Given the description of an element on the screen output the (x, y) to click on. 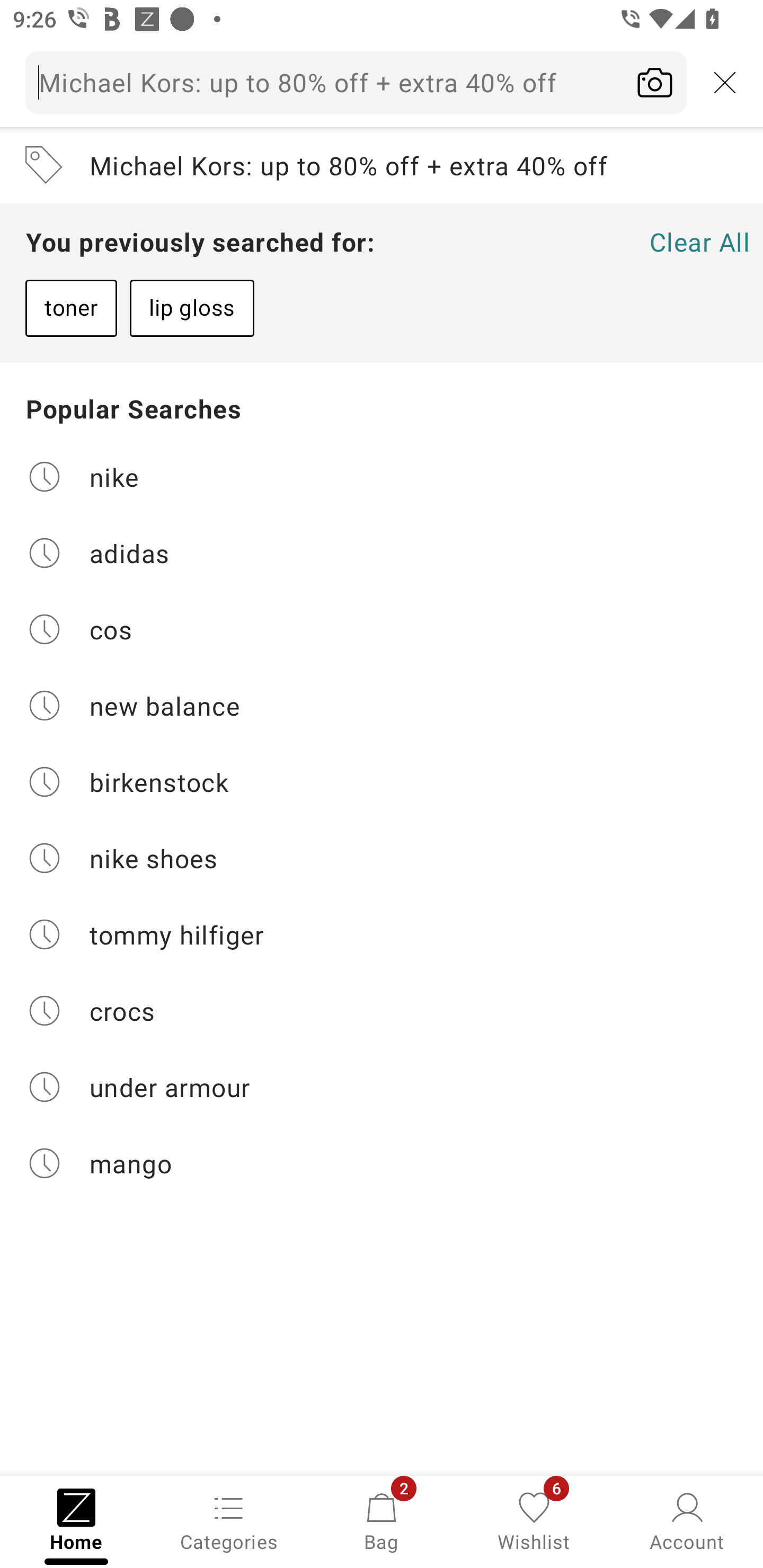
Michael Kors: up to 80% off + extra 40% off (381, 82)
Michael Kors: up to 80% off + extra 40% off (381, 165)
Clear All (699, 241)
toner (70, 308)
lip gloss (191, 308)
nike (381, 476)
adidas (381, 552)
cos (381, 629)
new balance (381, 705)
birkenstock (381, 781)
nike shoes (381, 858)
tommy hilfiger (381, 934)
crocs (381, 1010)
under armour (381, 1086)
mango (381, 1163)
Categories (228, 1519)
Bag, 2 new notifications Bag (381, 1519)
Wishlist, 6 new notifications Wishlist (533, 1519)
Account (686, 1519)
